Given the description of an element on the screen output the (x, y) to click on. 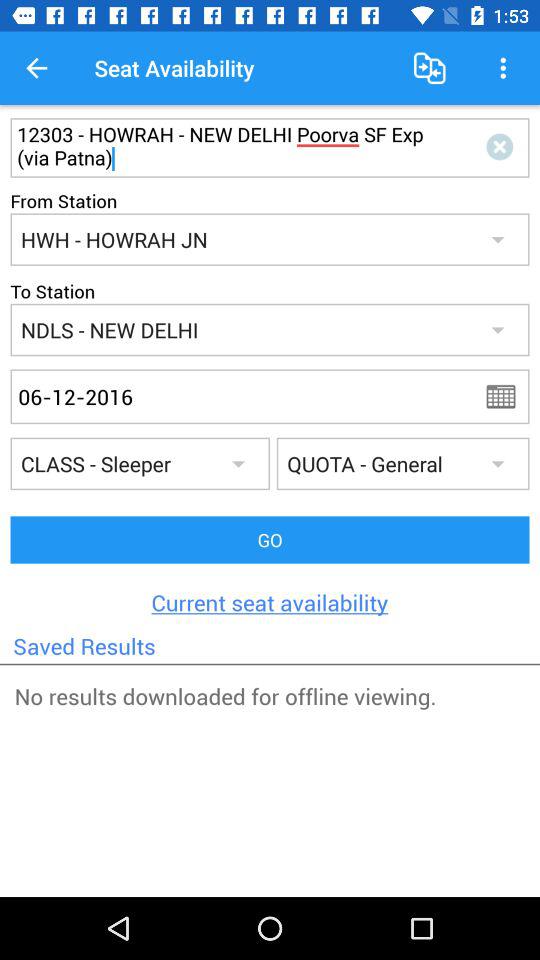
launch the item above the go item (507, 396)
